Given the description of an element on the screen output the (x, y) to click on. 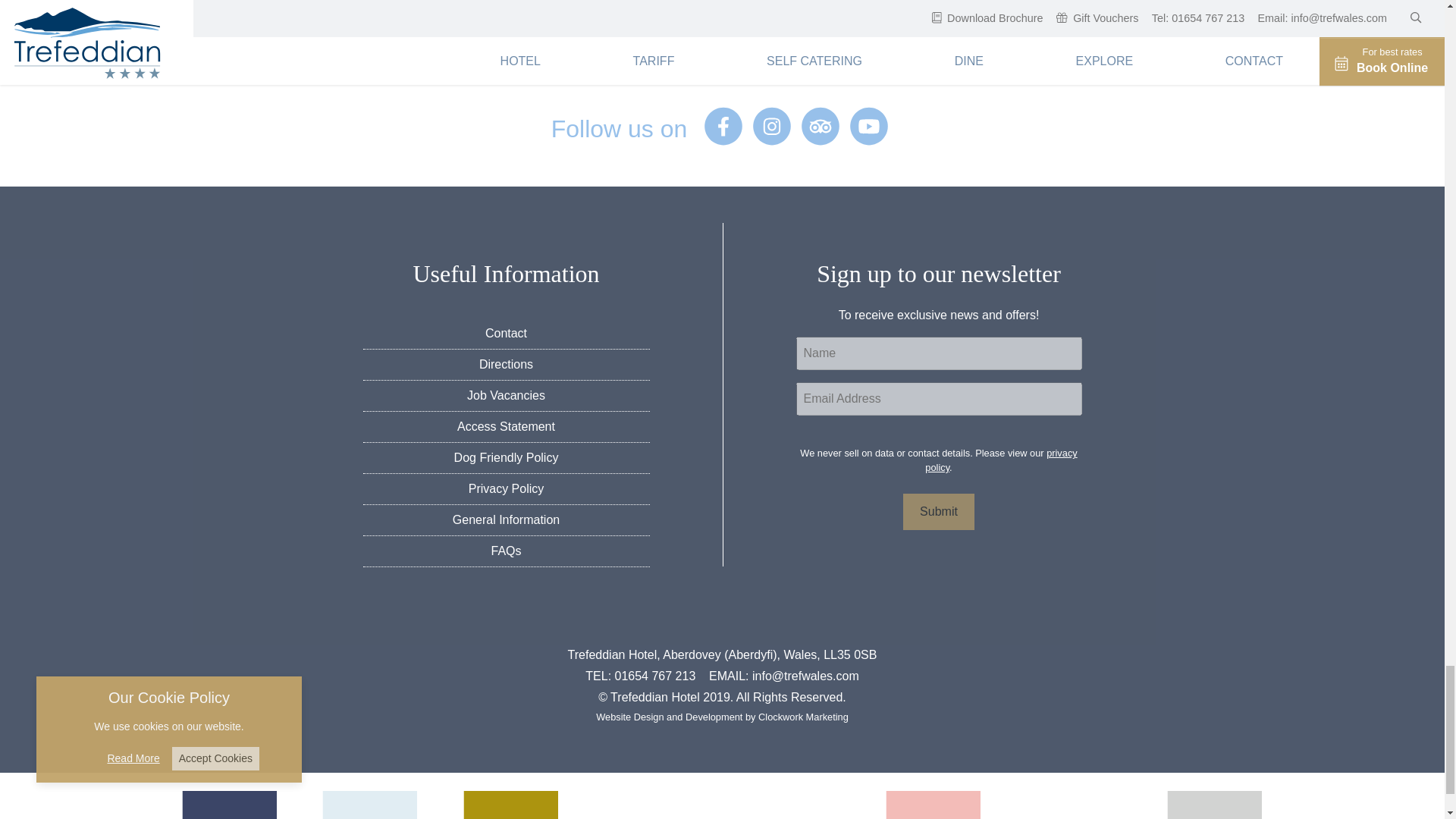
Submit (938, 511)
